Given the description of an element on the screen output the (x, y) to click on. 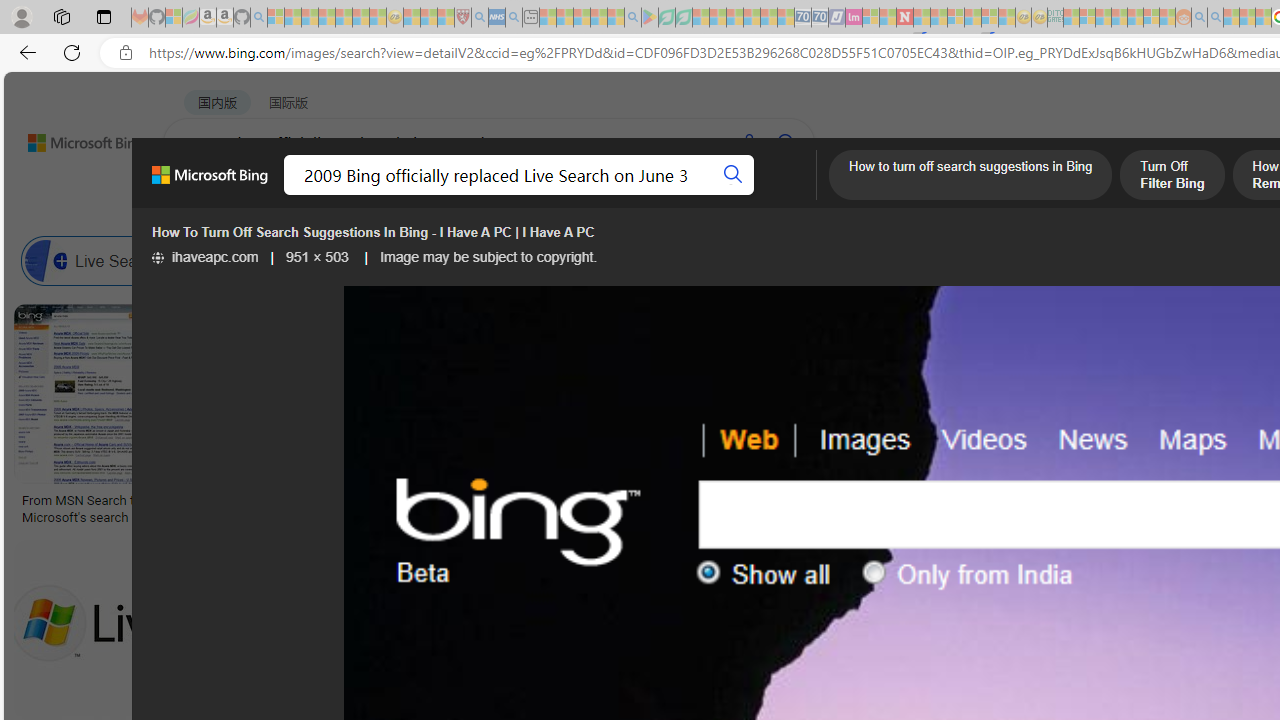
Bing Logo and symbol, meaning, history, PNG, brand (418, 508)
IMAGES (360, 196)
VIDEOS (545, 195)
Bing Logo Design Evolution 2009 to 2016 | Smithographic (1031, 507)
Utah sues federal government - Search - Sleeping (1215, 17)
Live Search (45, 260)
Expert Portfolios - Sleeping (1119, 17)
Cheap Car Rentals - Save70.com - Sleeping (802, 17)
ACADEMIC (635, 195)
